Given the description of an element on the screen output the (x, y) to click on. 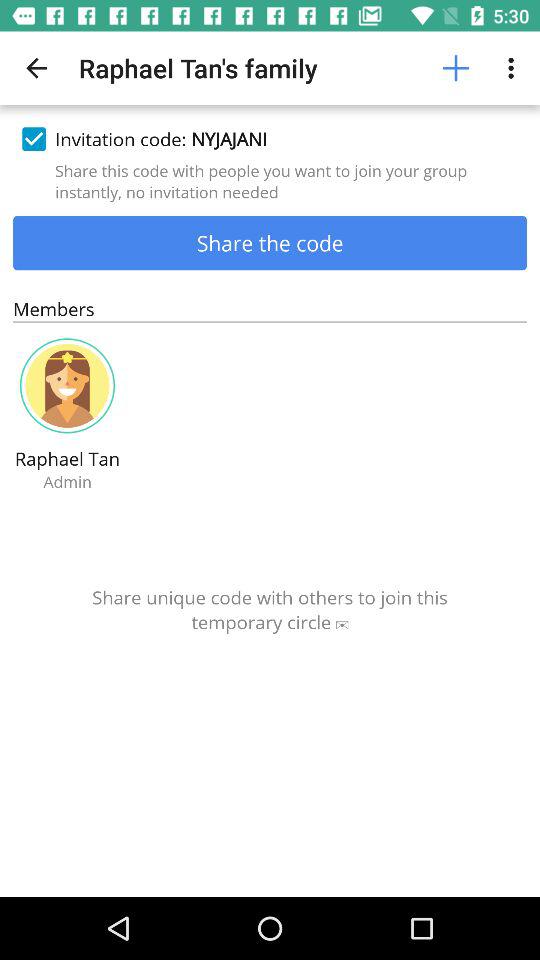
tap app next to raphael tan s app (36, 68)
